Given the description of an element on the screen output the (x, y) to click on. 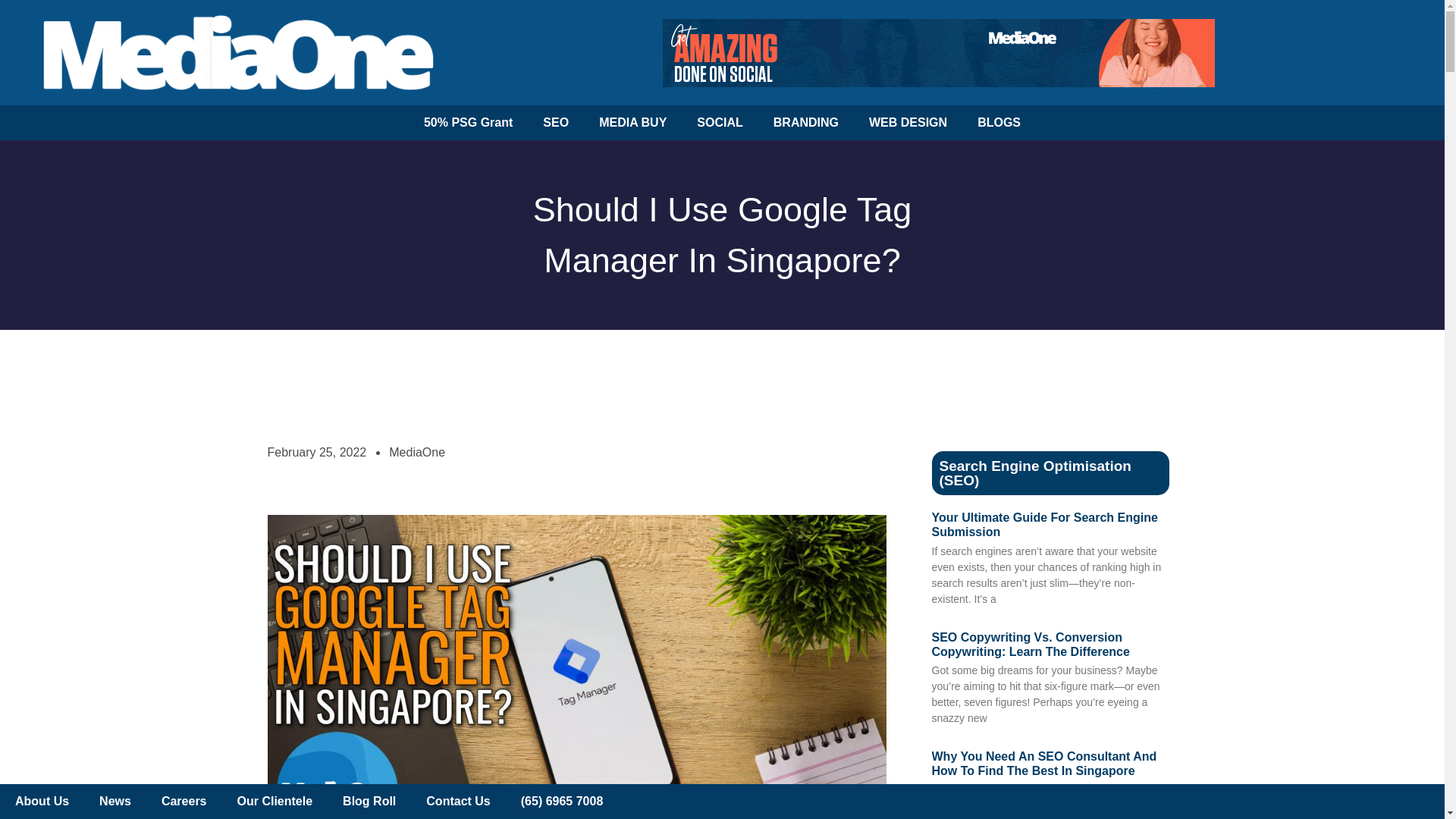
SOCIAL (719, 122)
MEDIA BUY (632, 122)
BLOGS (998, 122)
BRANDING (805, 122)
SEO (555, 122)
WEB DESIGN (907, 122)
